Given the description of an element on the screen output the (x, y) to click on. 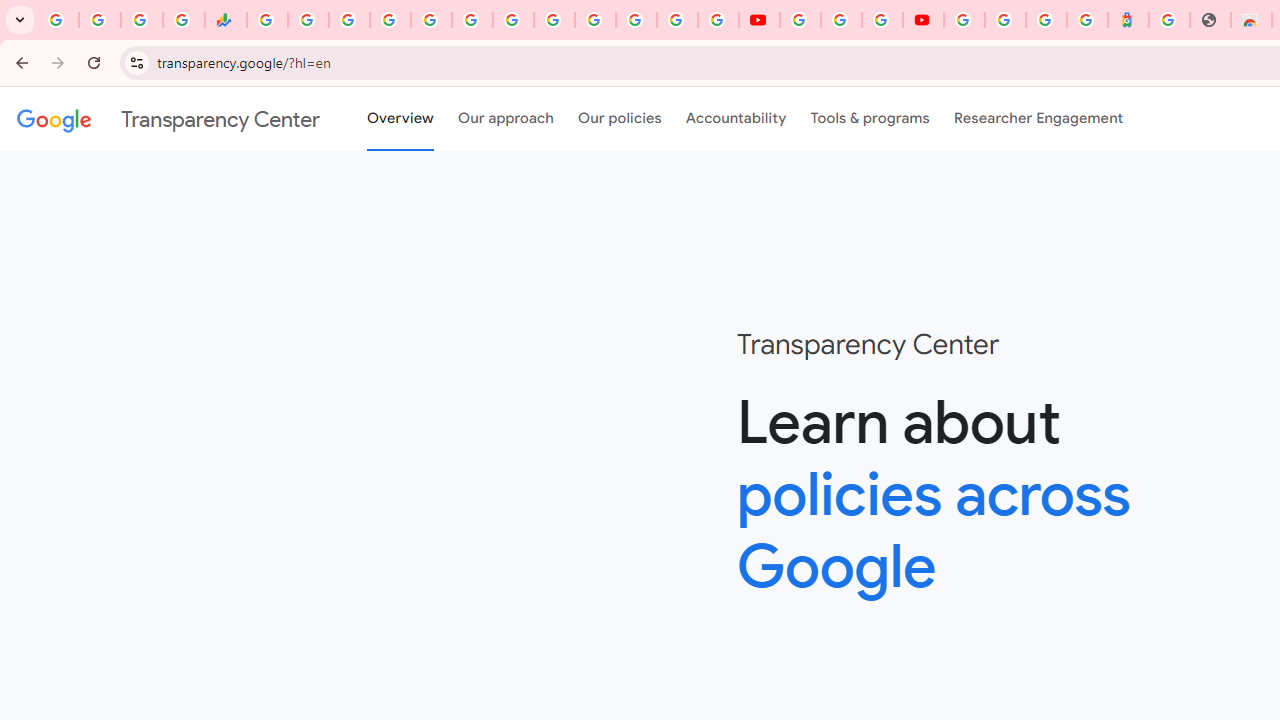
Our approach (506, 119)
Google Workspace Admin Community (58, 20)
Sign in - Google Accounts (389, 20)
Accountability (735, 119)
Sign in - Google Accounts (676, 20)
YouTube (799, 20)
Sign in - Google Accounts (594, 20)
Google Account Help (840, 20)
Privacy Checkup (717, 20)
Tools & programs (869, 119)
YouTube (758, 20)
Reload (93, 62)
